Given the description of an element on the screen output the (x, y) to click on. 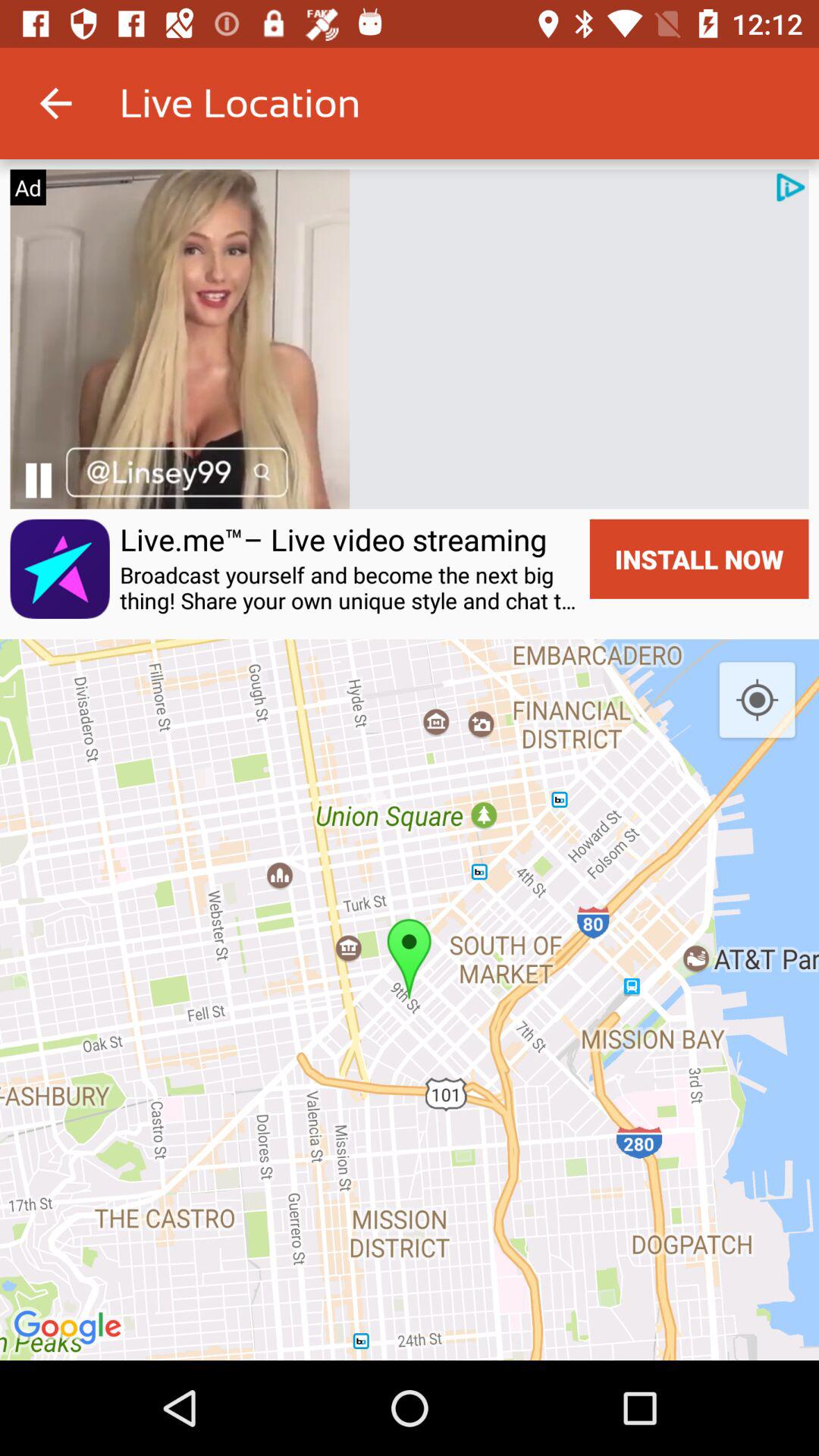
scroll until the broadcast yourself and item (349, 587)
